Given the description of an element on the screen output the (x, y) to click on. 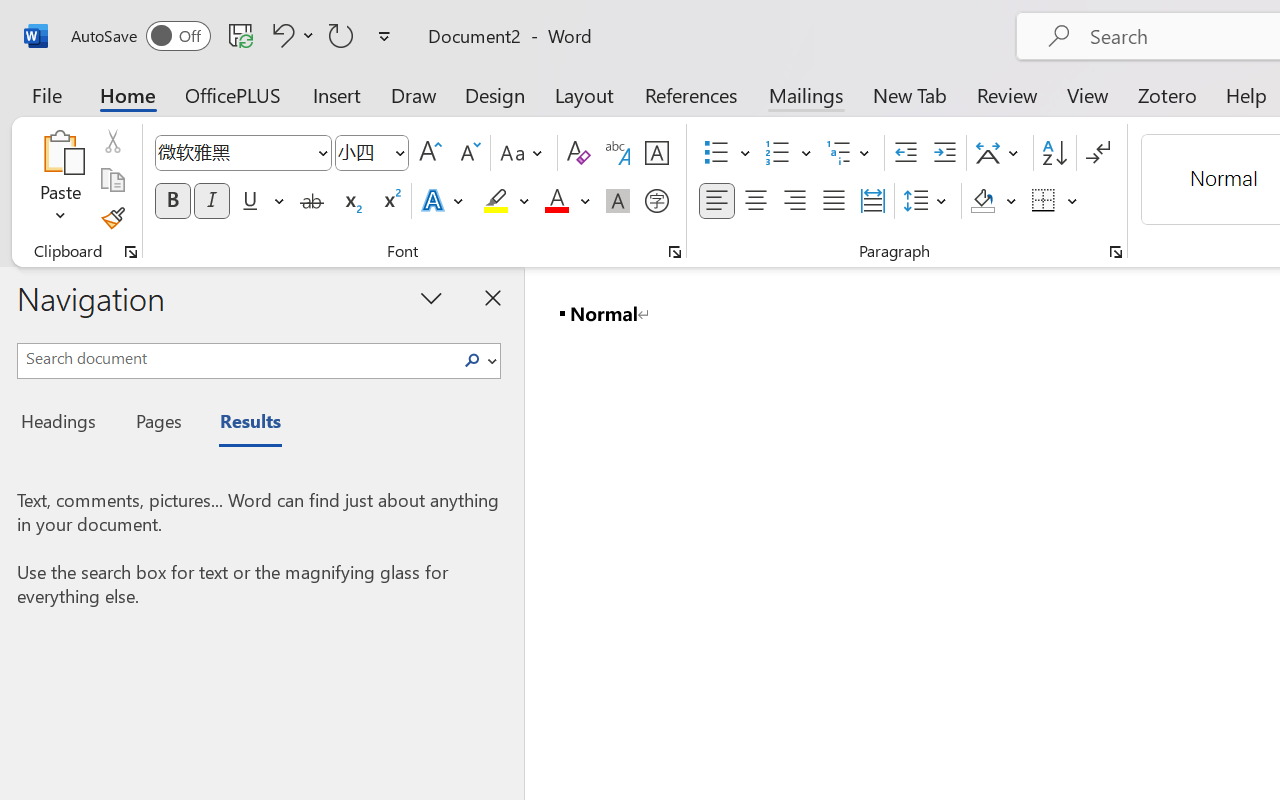
Results (240, 424)
File Tab (46, 94)
Shading RGB(0, 0, 0) (982, 201)
Borders (1055, 201)
Decrease Indent (906, 153)
Change Case (524, 153)
Paste (60, 151)
Review (1007, 94)
Open (399, 152)
Quick Access Toolbar (233, 36)
Shrink Font (468, 153)
Line and Paragraph Spacing (927, 201)
Pages (156, 424)
Paragraph... (1115, 252)
Align Right (794, 201)
